Given the description of an element on the screen output the (x, y) to click on. 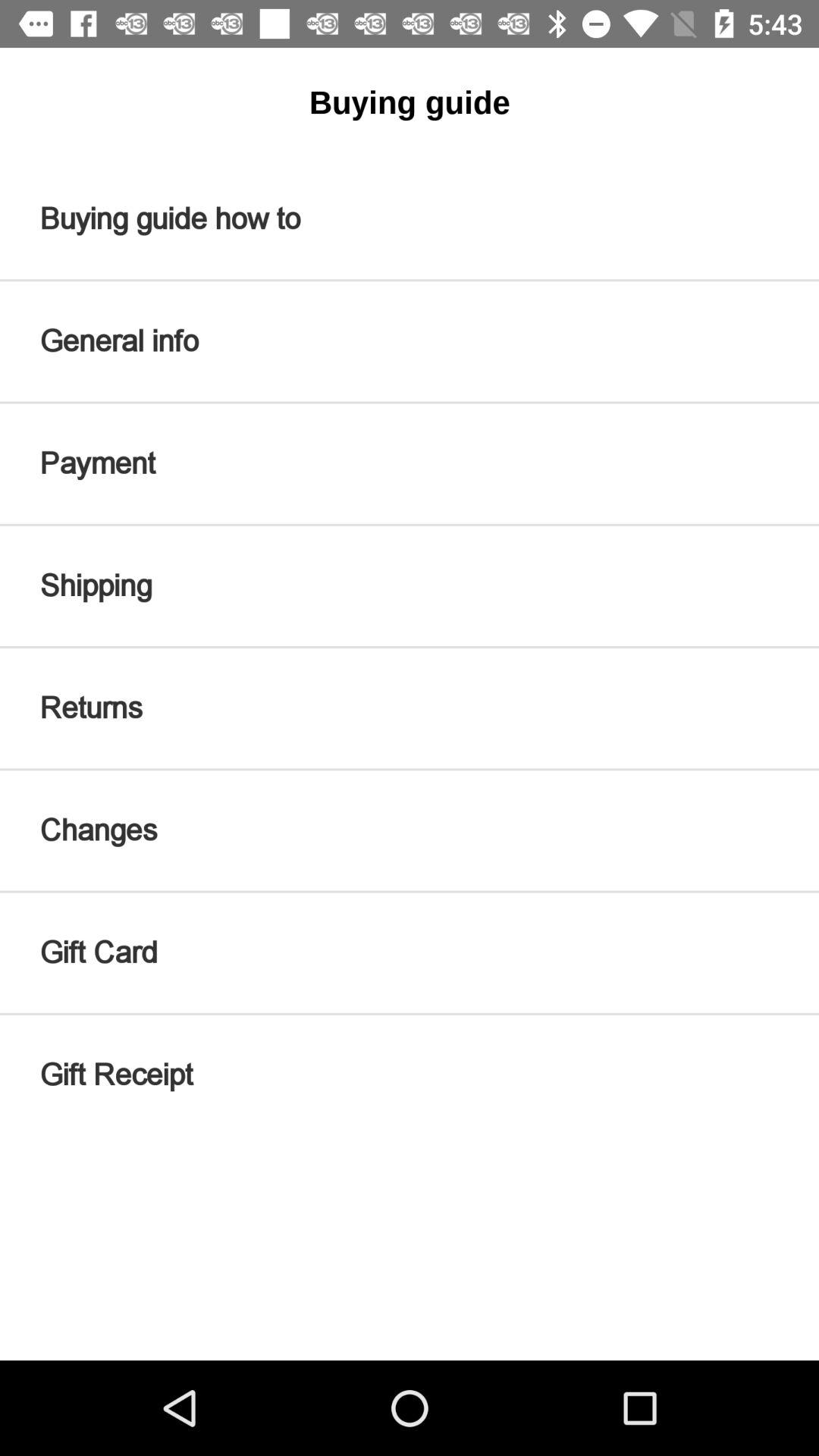
press item above the shipping (409, 463)
